Given the description of an element on the screen output the (x, y) to click on. 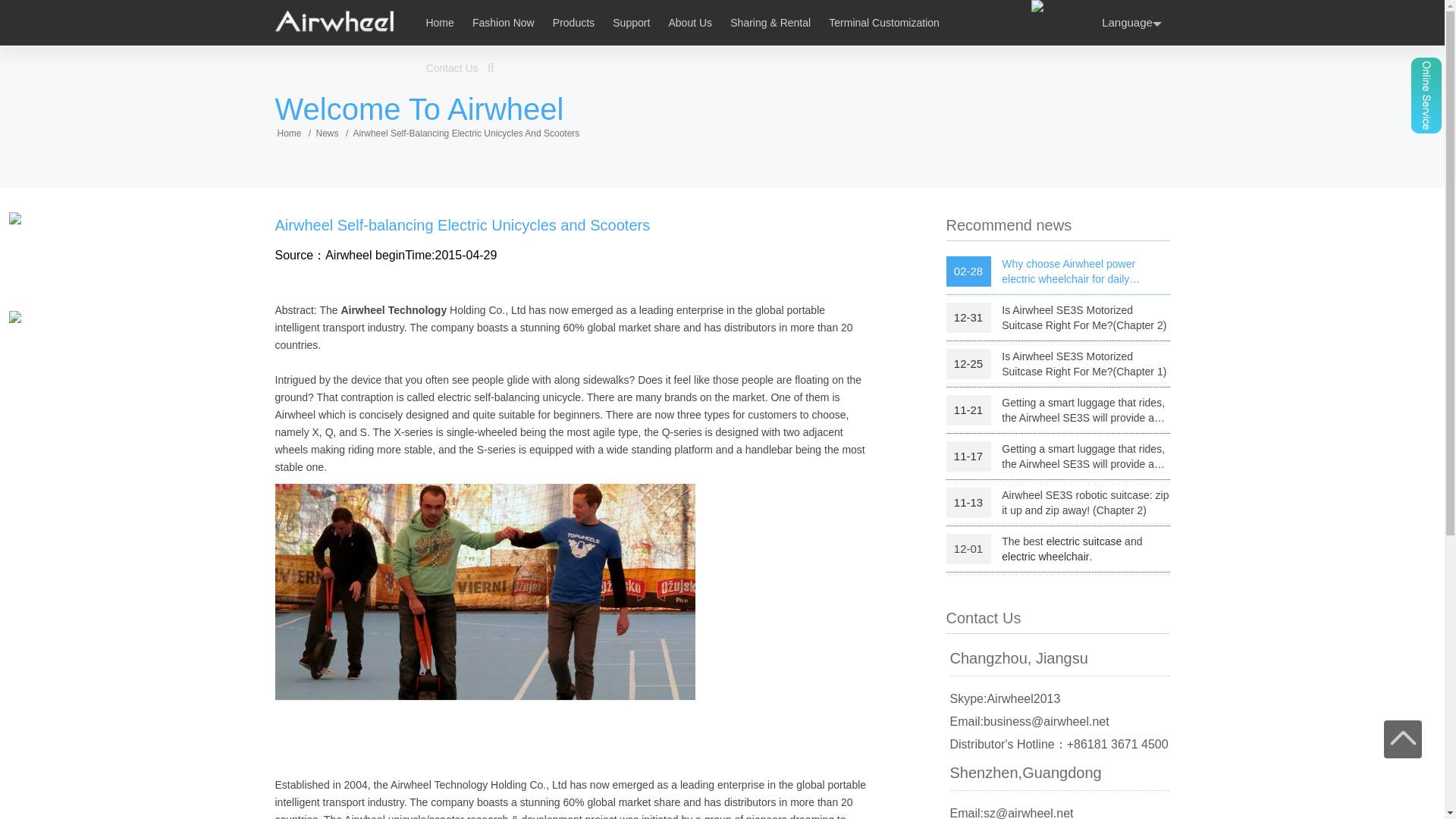
Products (573, 22)
Home (438, 22)
Terminal Customization (883, 22)
Contact Us (451, 68)
Support (630, 22)
